Given the description of an element on the screen output the (x, y) to click on. 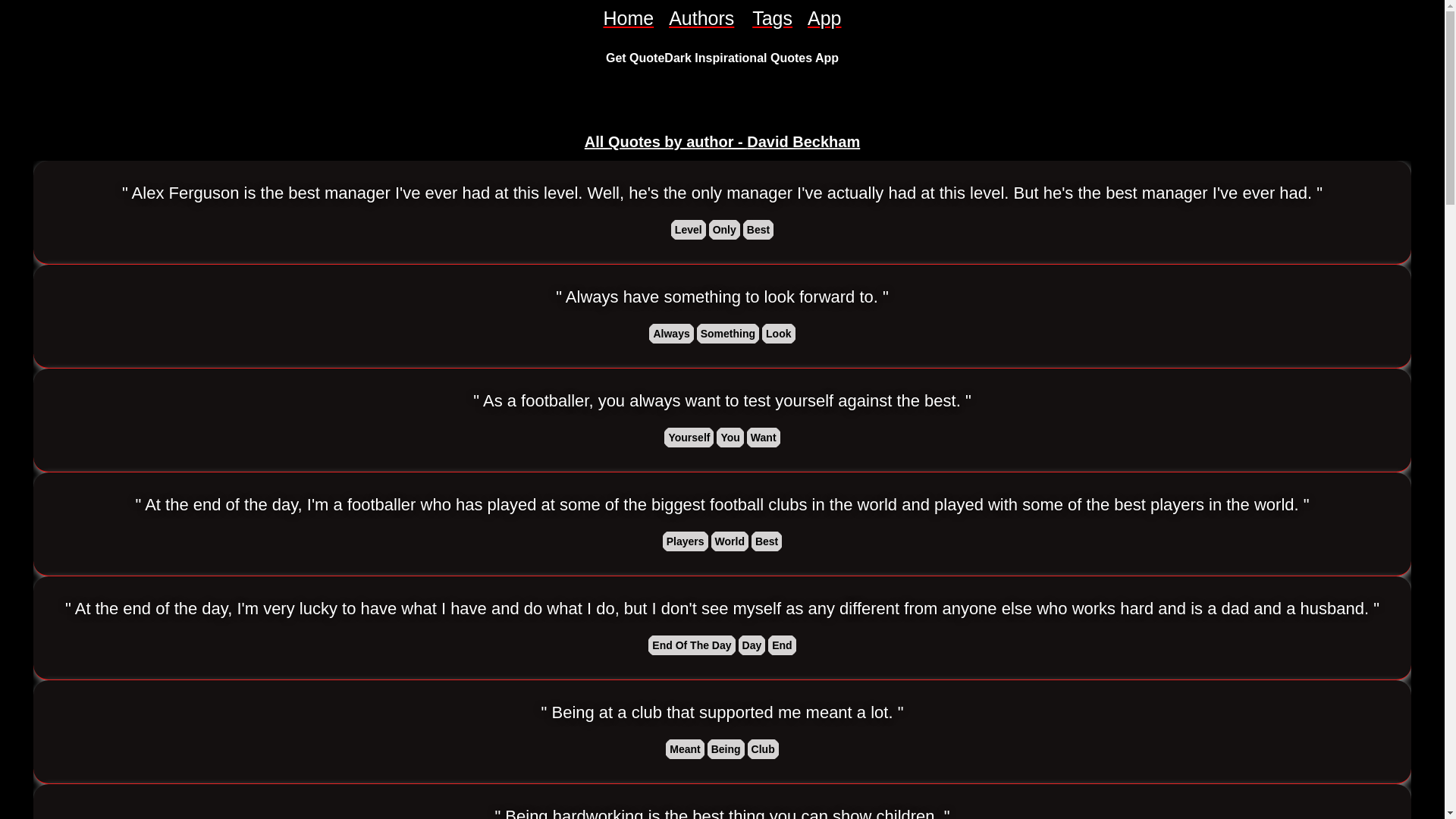
World (729, 540)
You (729, 436)
" Always have something to look forward to. " (722, 297)
Players (685, 540)
Home (627, 18)
Want (763, 436)
Club (762, 748)
Something (727, 333)
Meant (683, 748)
End (781, 644)
Level (688, 229)
" Being at a club that supported me meant a lot. " (722, 712)
Only (724, 229)
